Given the description of an element on the screen output the (x, y) to click on. 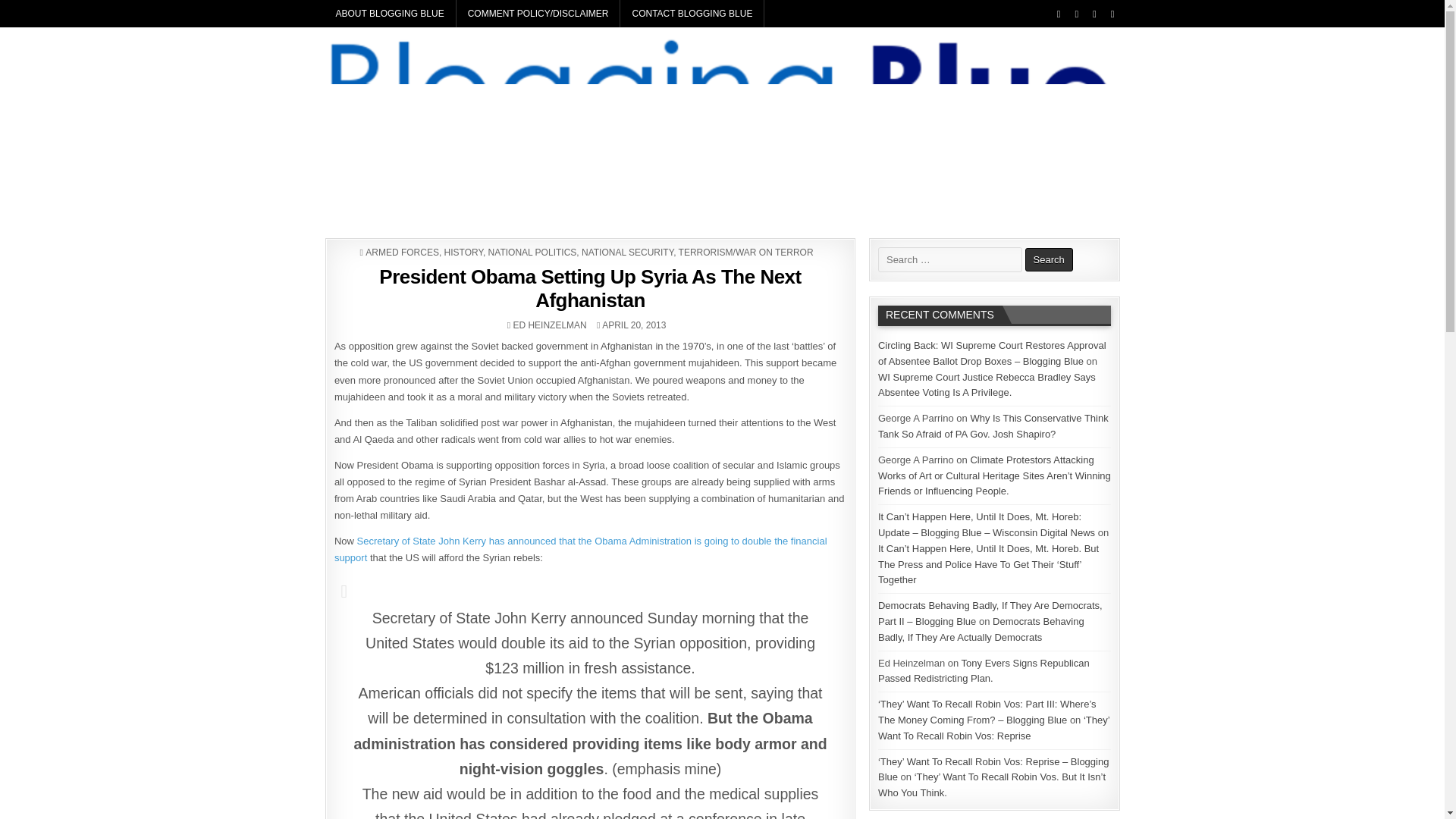
NATIONAL SECURITY (626, 252)
HISTORY (463, 252)
ABOUT BLOGGING BLUE (390, 13)
Facebook (1075, 13)
RSS (1112, 13)
Twitter (1058, 13)
Search (1049, 259)
Search (1049, 259)
President Obama Setting Up Syria As The Next Afghanistan (589, 288)
